Given the description of an element on the screen output the (x, y) to click on. 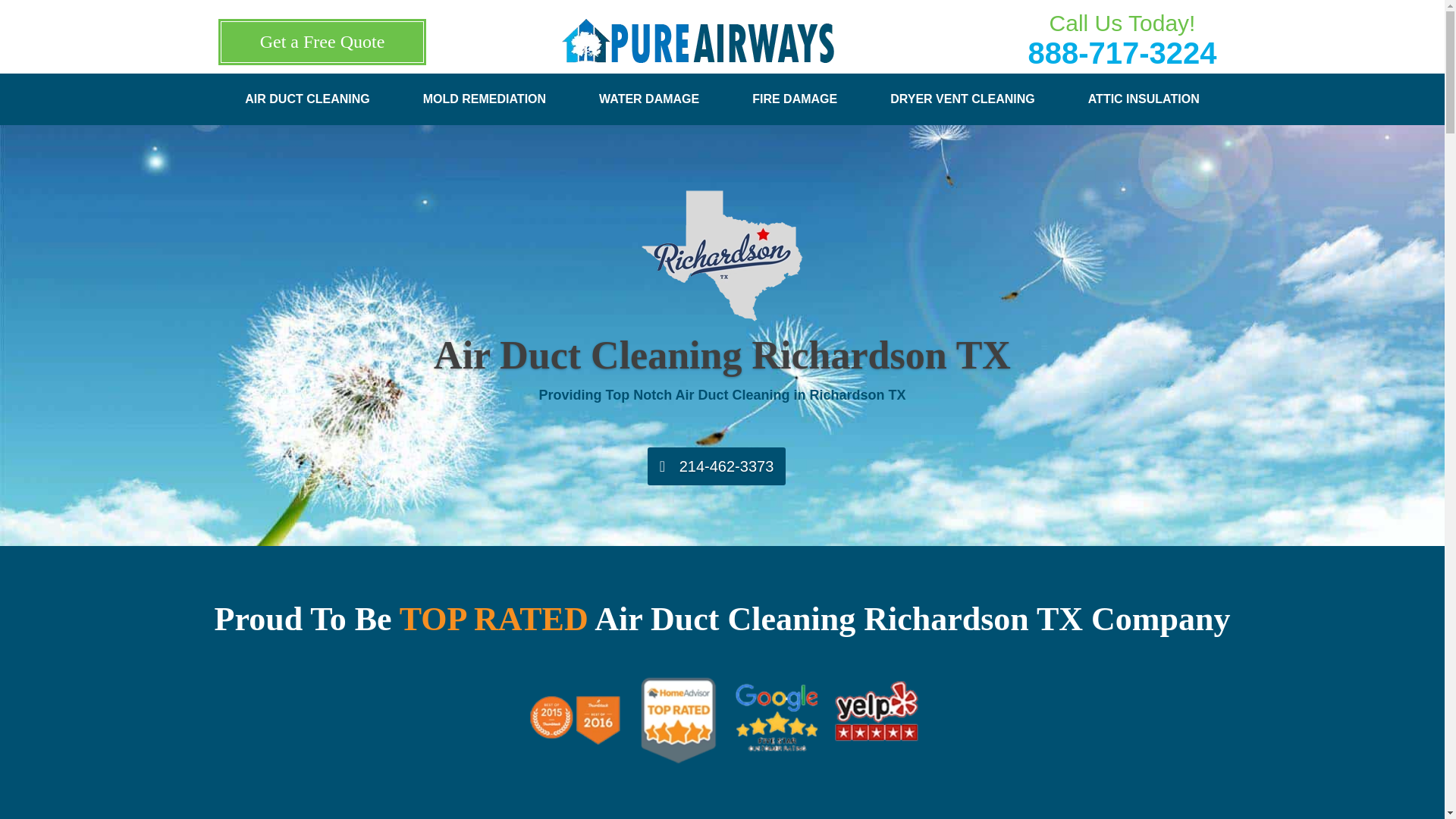
WATER DAMAGE (648, 107)
Richardson air duct cleaning services (722, 719)
DRYER VENT CLEANING (962, 107)
air duct cleaning Richardson texas (722, 256)
214-462-3373 (716, 466)
Pure Airways logo (697, 40)
AIR DUCT CLEANING (306, 107)
Get a Free Quote (322, 41)
ATTIC INSULATION (1143, 107)
MOLD REMEDIATION (484, 107)
FIRE DAMAGE (794, 107)
